Given the description of an element on the screen output the (x, y) to click on. 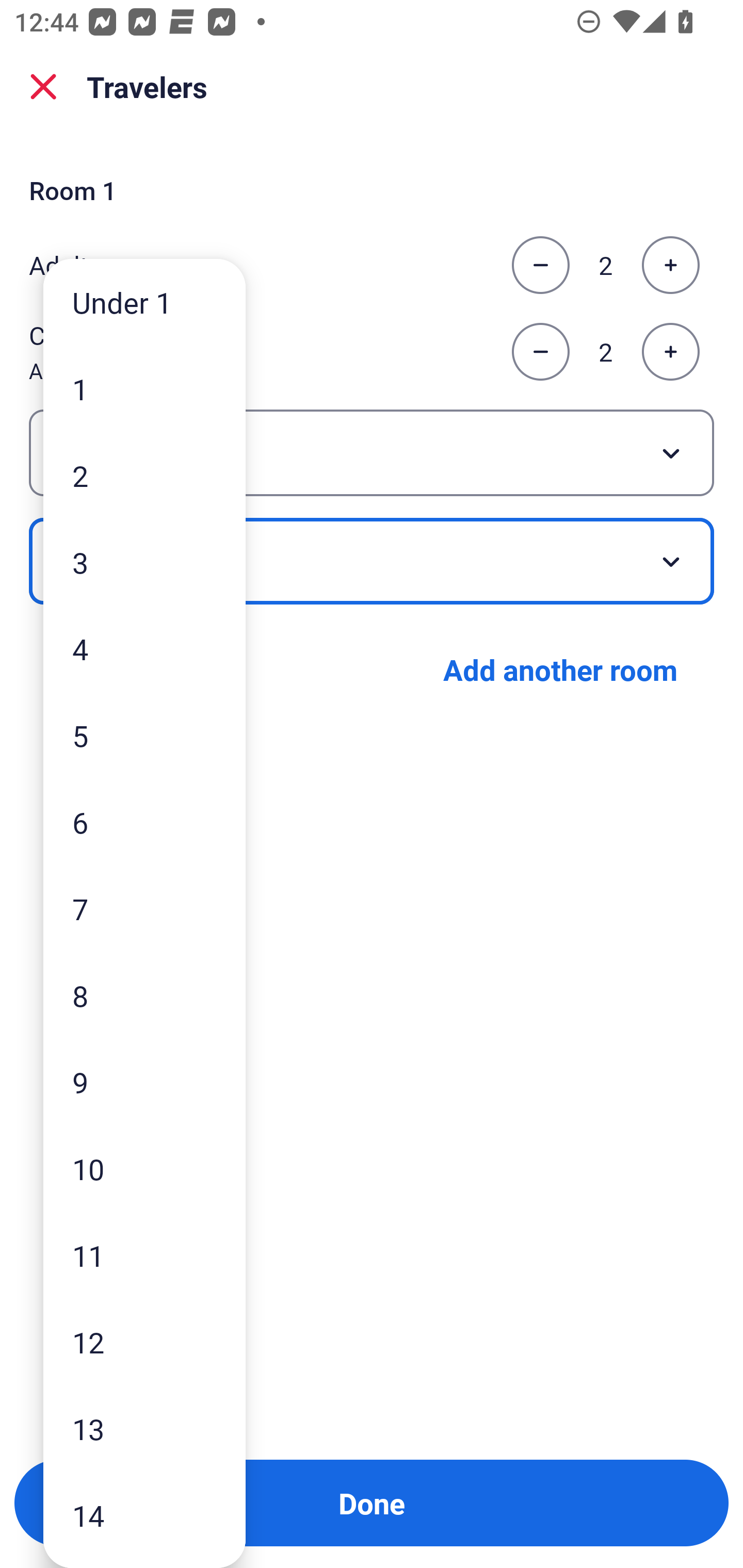
Under 1 (144, 301)
1 (144, 388)
2 (144, 475)
3 (144, 562)
4 (144, 648)
5 (144, 735)
6 (144, 822)
7 (144, 908)
8 (144, 994)
9 (144, 1081)
10 (144, 1168)
11 (144, 1255)
12 (144, 1342)
13 (144, 1429)
14 (144, 1515)
